Given the description of an element on the screen output the (x, y) to click on. 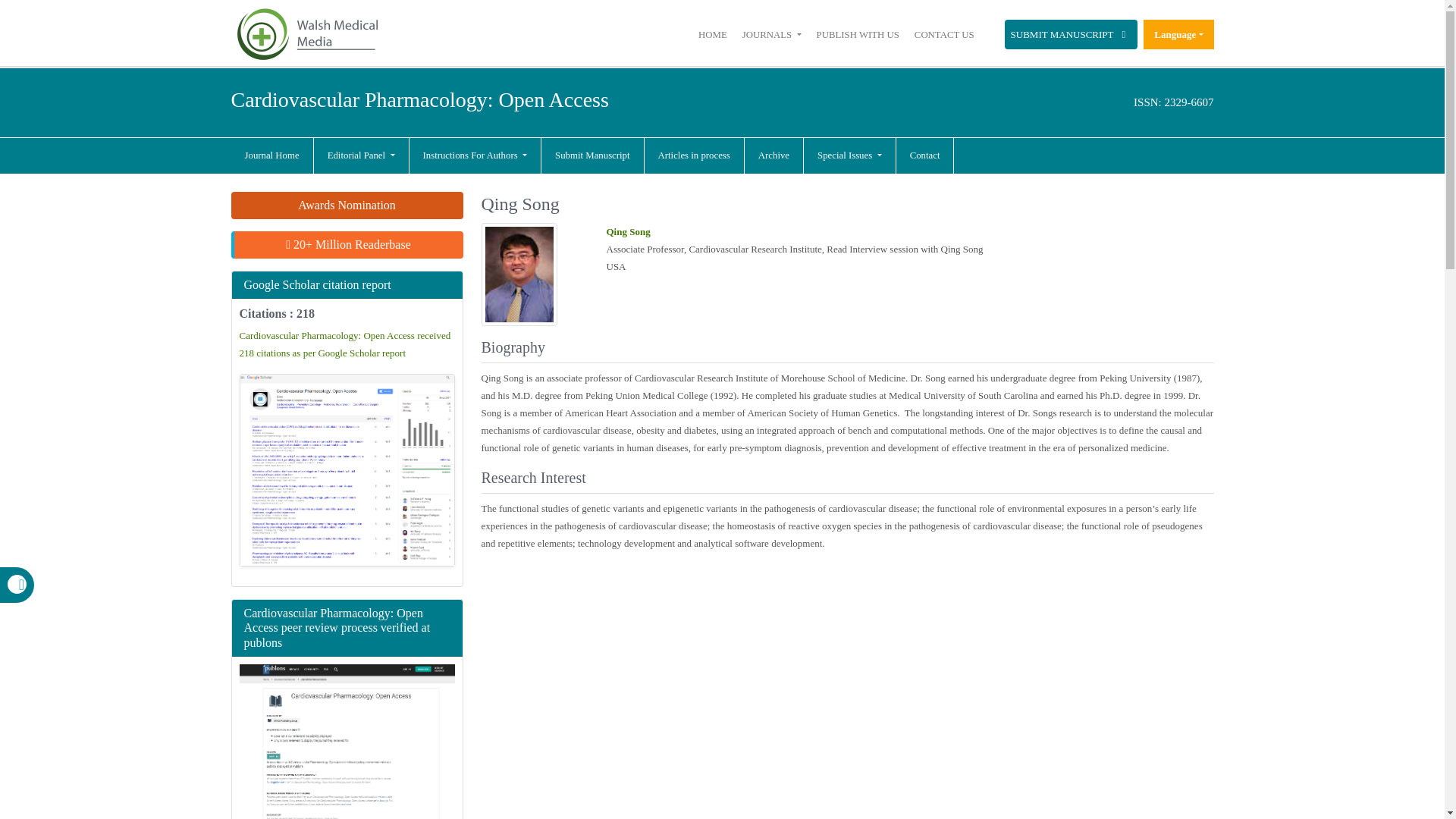
Click here (857, 34)
Contact (925, 155)
CONTACT US (944, 34)
Submit Manuscript (591, 155)
Click here (712, 34)
Click here (271, 155)
SUBMIT MANUSCRIPT (1071, 34)
Walsh Medical Media (305, 34)
Google Scholar citation report (317, 284)
HOME (712, 34)
Journal Home (271, 155)
Special Issues (849, 155)
Instructions For Authors (475, 155)
Awards Nomination (346, 205)
